Given the description of an element on the screen output the (x, y) to click on. 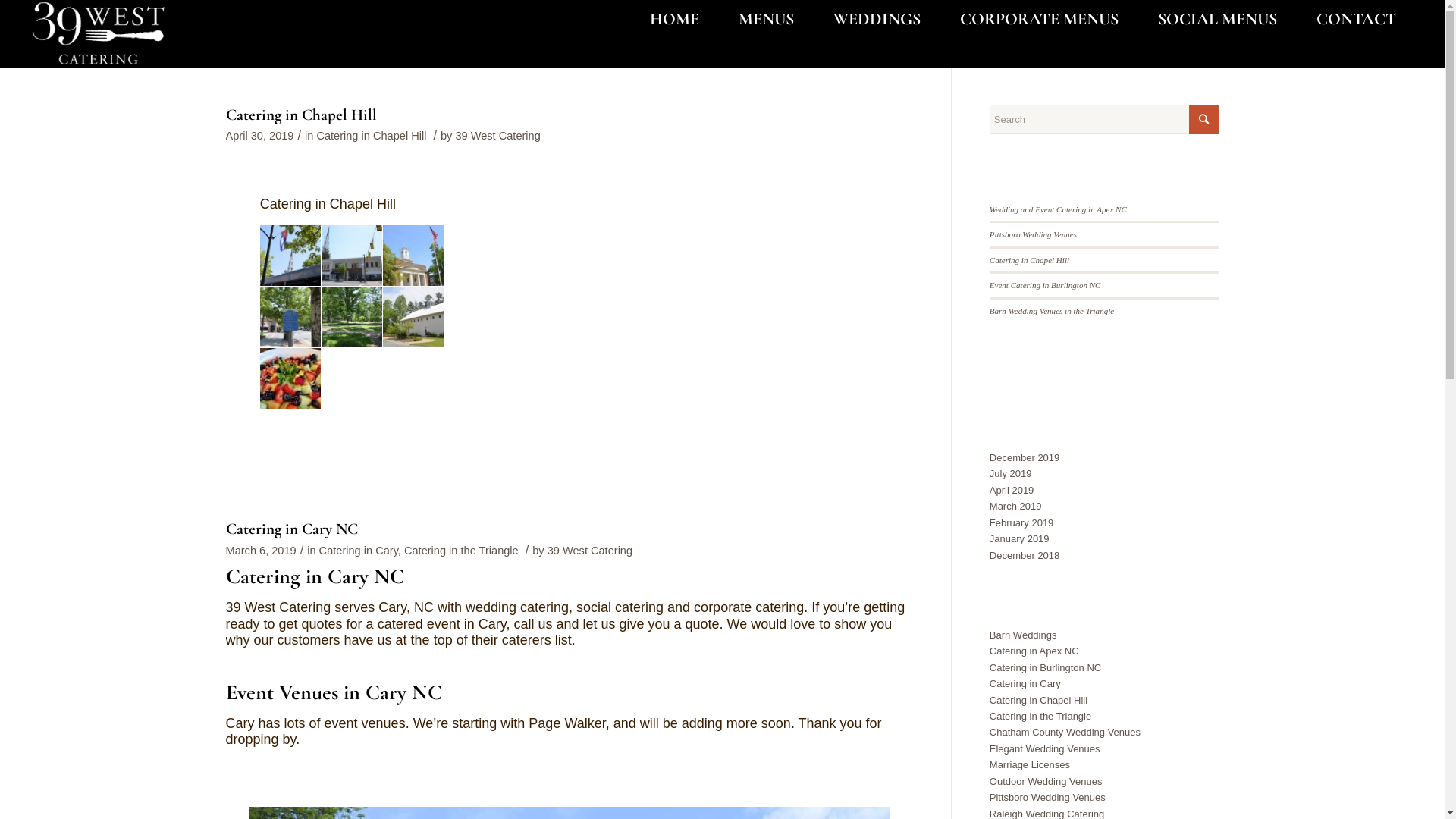
December 2018 Element type: text (1024, 555)
April 2019 Element type: text (1011, 489)
Catering in Cary NC Element type: text (291, 528)
Catering in Cary Element type: text (1024, 683)
Elegant Wedding Venues Element type: text (1044, 748)
Catering in the Triangle Element type: text (1040, 715)
39 West Catering Element type: text (589, 550)
Catering in Chapel Hill Element type: text (300, 114)
March 2019 Element type: text (1015, 505)
Catering in Chapel Hill Element type: text (1038, 700)
Outdoor Wedding Venues Element type: text (1045, 781)
Event Catering in Burlington NC Element type: text (1045, 284)
Catering in Cary Element type: text (358, 550)
Catering in Apex NC Element type: text (1034, 650)
Marriage Licenses Element type: text (1029, 764)
Chatham County Wedding Venues Element type: text (1064, 731)
Barn Wedding Venues in the Triangle Element type: text (1051, 310)
Pittsboro Wedding Venues Element type: text (1047, 797)
December 2019 Element type: text (1024, 457)
Barn Weddings Element type: text (1023, 634)
July 2019 Element type: text (1010, 473)
Catering in Burlington NC Element type: text (1045, 667)
January 2019 Element type: text (1019, 538)
Catering in the Triangle Element type: text (461, 550)
39 West Catering Element type: text (497, 135)
Catering in Chapel Hill Element type: text (1029, 259)
Catering in Chapel Hill Element type: text (371, 135)
Wedding and Event Catering in Apex NC Element type: text (1057, 208)
February 2019 Element type: text (1021, 522)
Pittsboro Wedding Venues Element type: text (1032, 233)
